Given the description of an element on the screen output the (x, y) to click on. 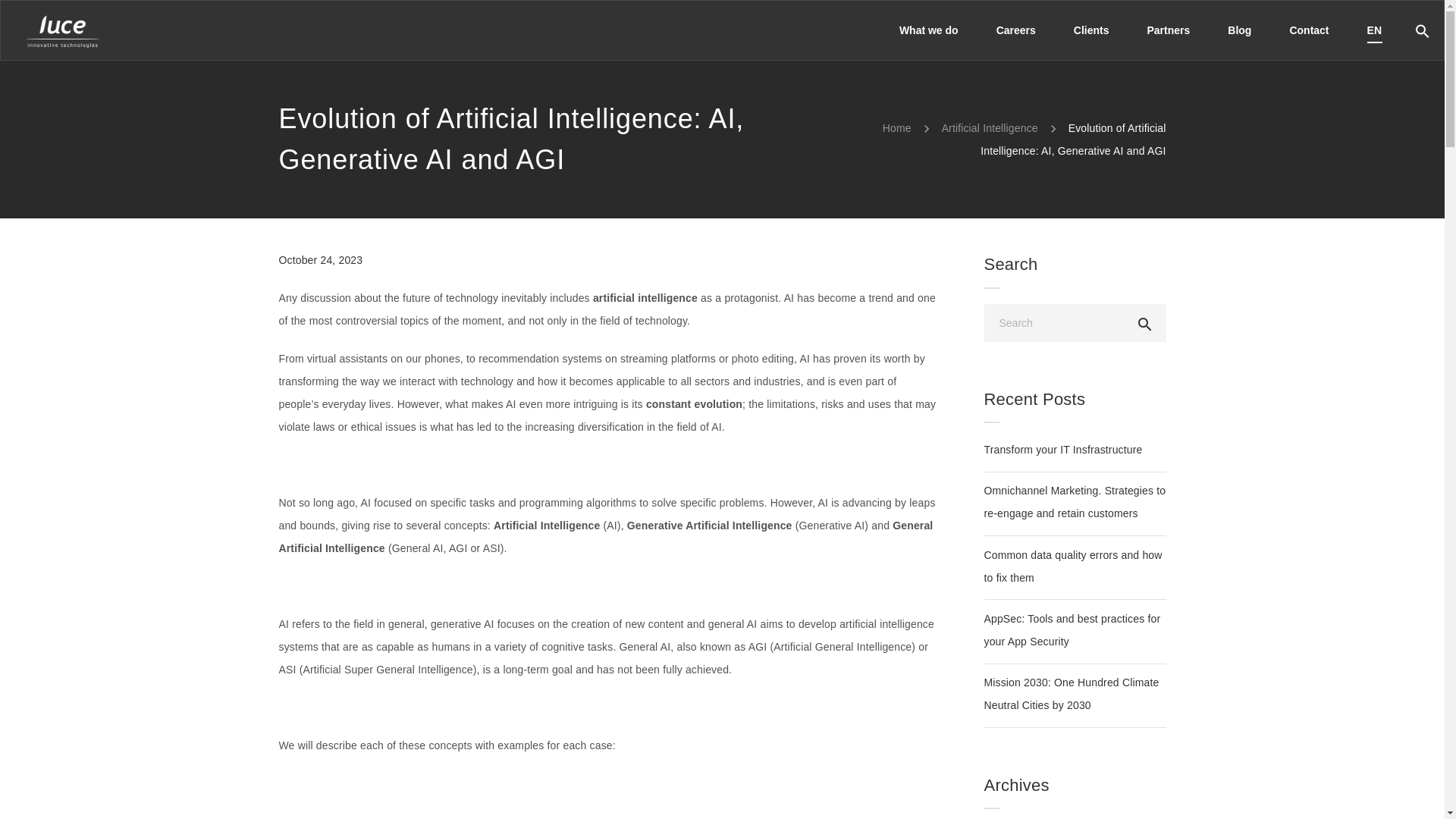
Contact (1308, 30)
EN (1364, 30)
Partners (1168, 30)
Blog (1238, 30)
Careers (1015, 30)
What we do (928, 30)
Clients (1091, 30)
